Given the description of an element on the screen output the (x, y) to click on. 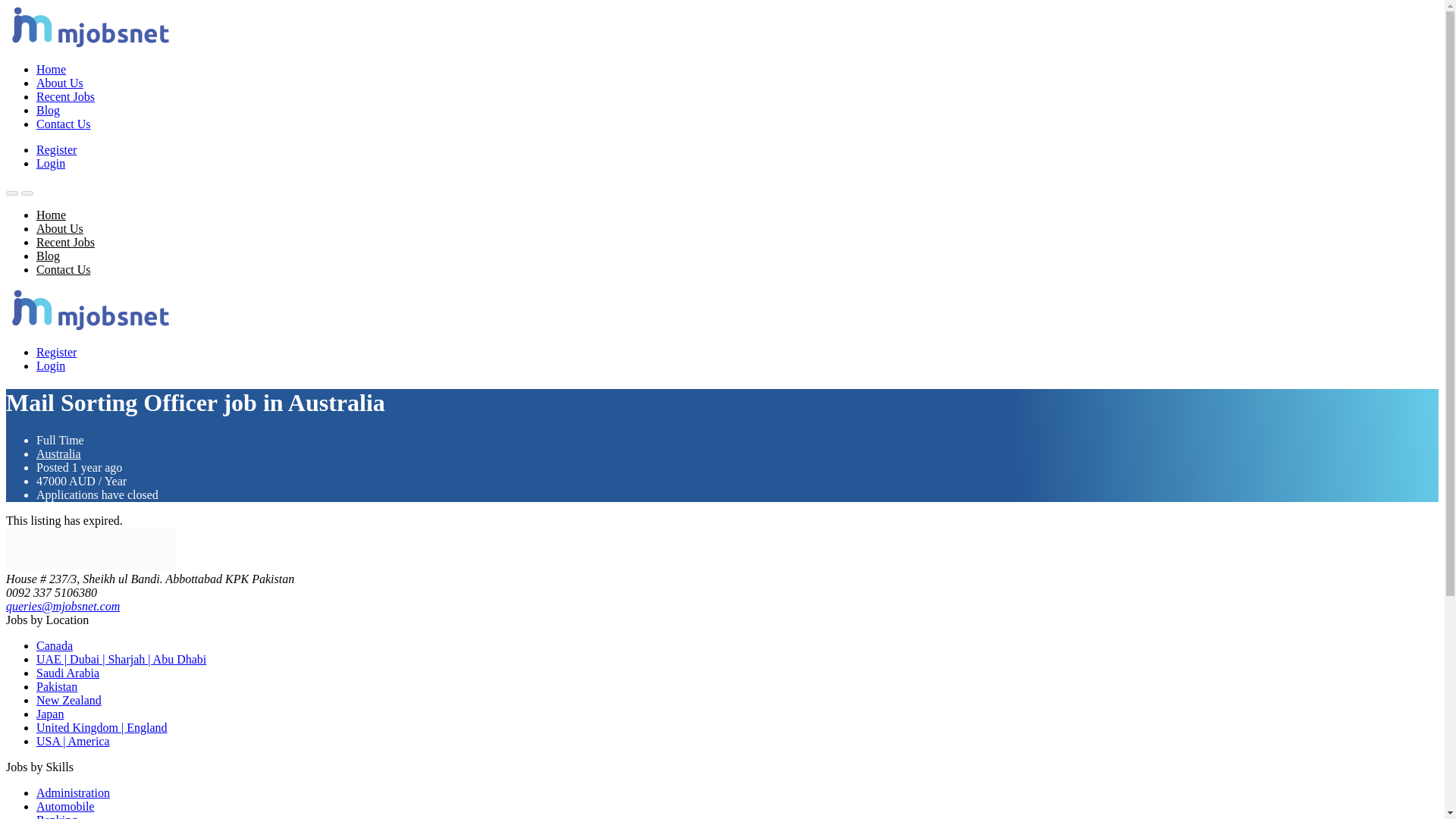
Administration (73, 792)
Japan (50, 713)
Home (50, 214)
Recent Jobs (65, 96)
Saudi Arabia (67, 672)
Pakistan (56, 686)
Home (50, 69)
New Zealand (68, 699)
Register (56, 149)
Canada (54, 645)
